Given the description of an element on the screen output the (x, y) to click on. 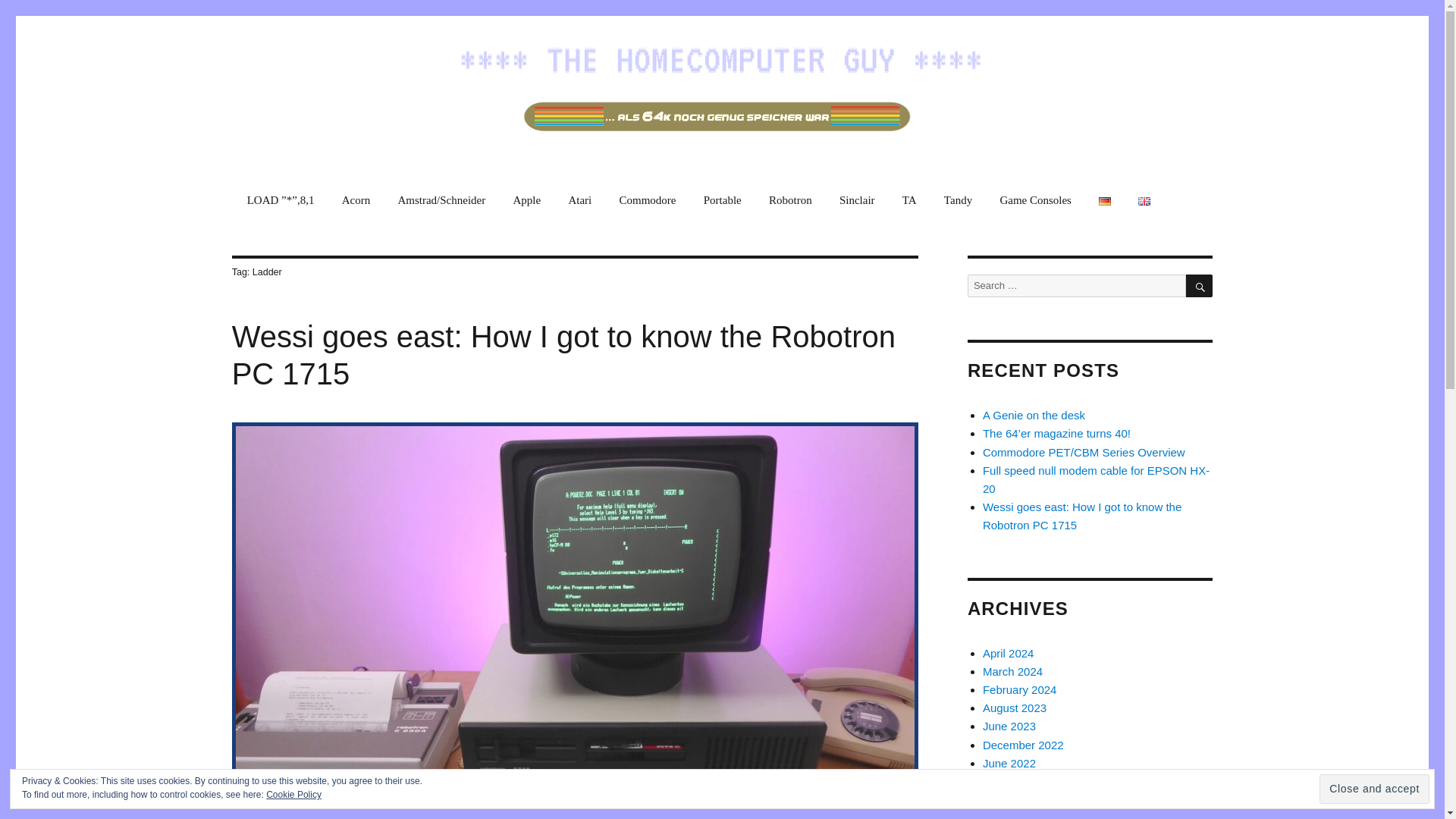
Tandy (958, 200)
TA (909, 200)
Robotron (790, 200)
Apple (526, 200)
Sinclair (857, 200)
Wessi goes east: How I got to know the Robotron PC 1715 (563, 355)
Portable (722, 200)
Commodore (646, 200)
Acorn (355, 200)
Close and accept (1374, 788)
